Given the description of an element on the screen output the (x, y) to click on. 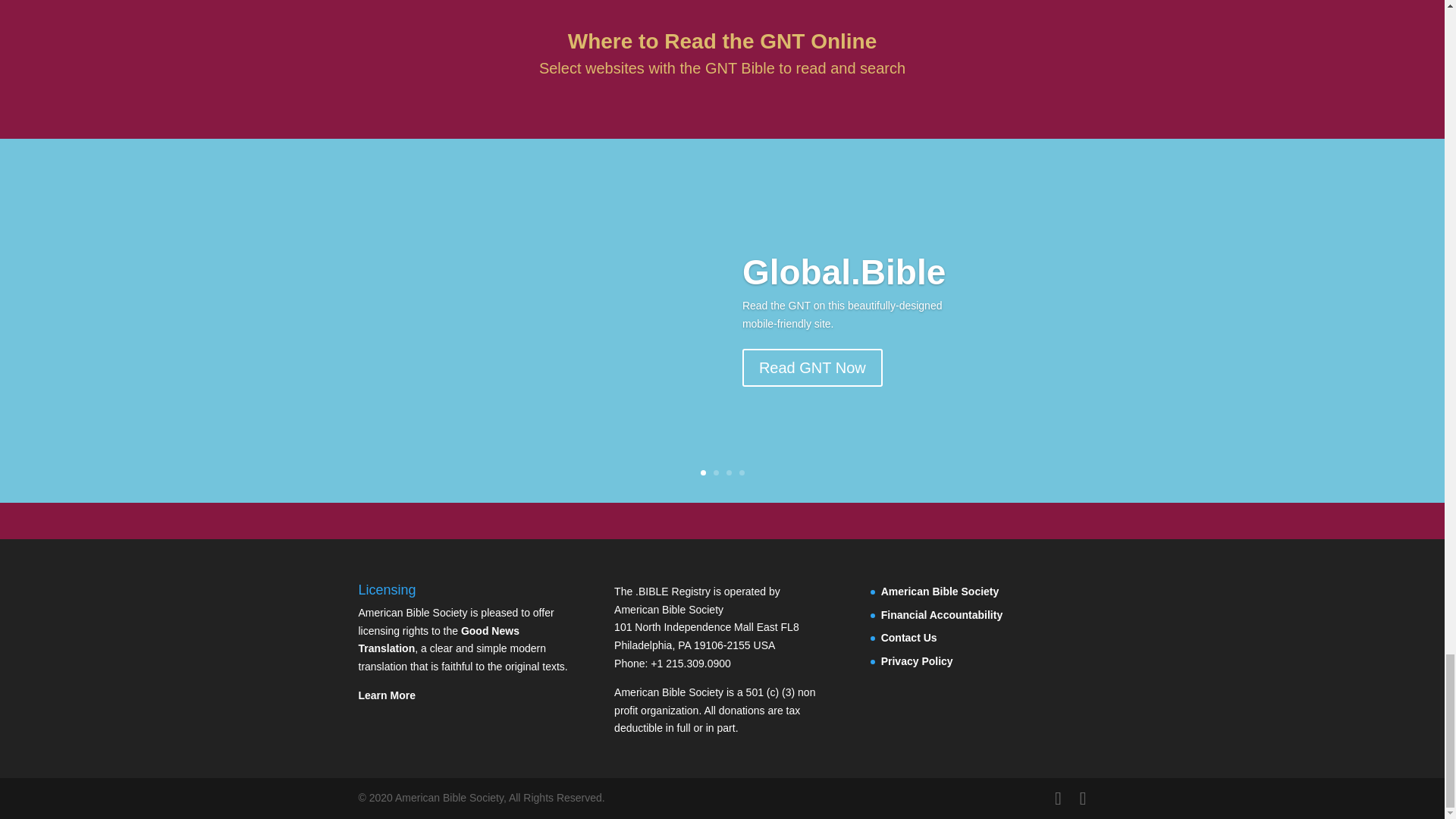
4 (741, 472)
American Bible Society (939, 591)
1 (703, 472)
3 (729, 472)
Learn More (386, 695)
